Given the description of an element on the screen output the (x, y) to click on. 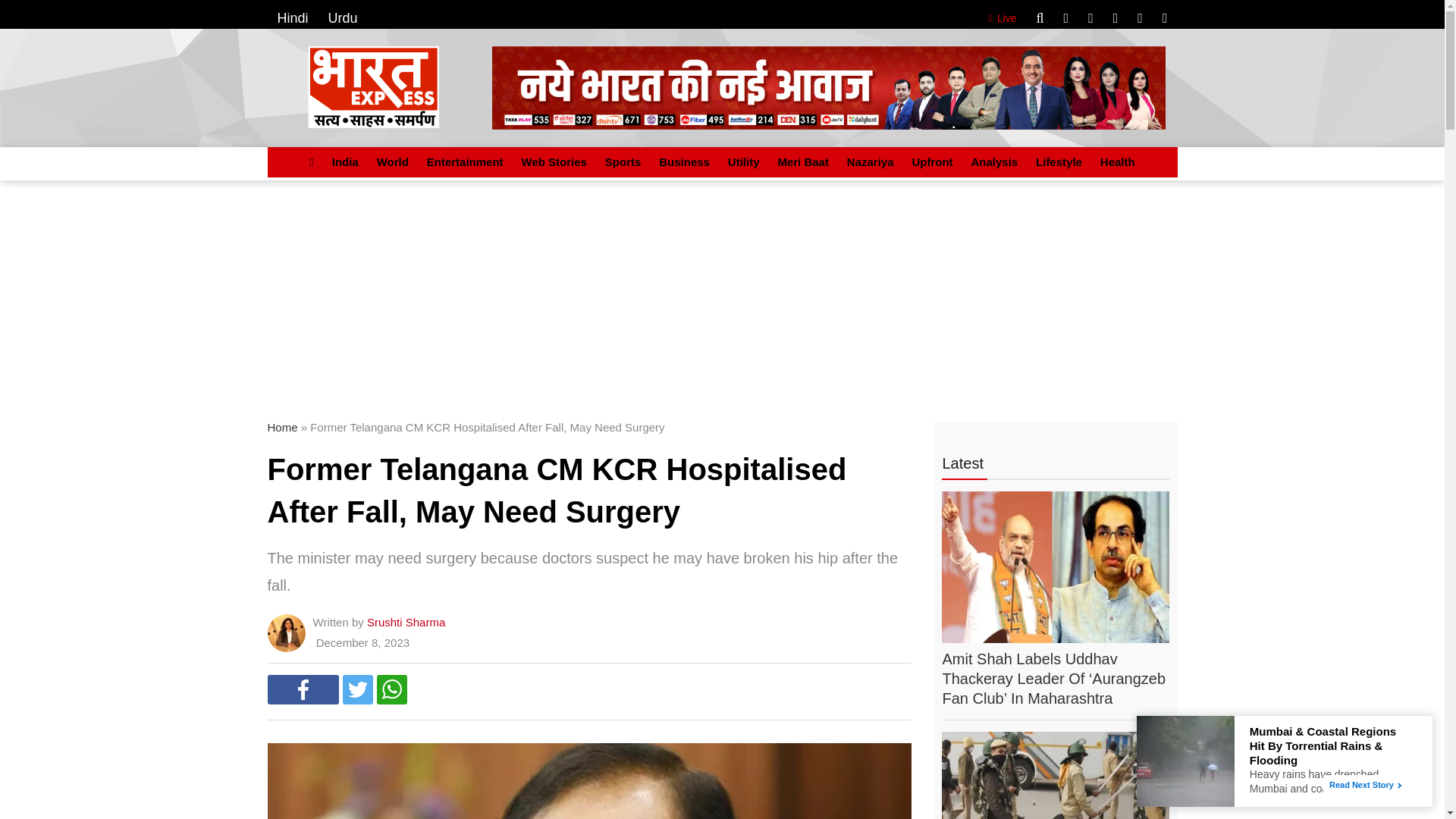
World (392, 162)
Sports (622, 162)
India (345, 162)
Analysis (993, 162)
Hindi (292, 17)
Entertainment (465, 162)
Meri Baat (802, 162)
Business (683, 162)
Live (999, 18)
Web Stories (553, 162)
Upfront (931, 162)
Nazariya (870, 162)
Utility (743, 162)
Bharat Express (828, 87)
